Given the description of an element on the screen output the (x, y) to click on. 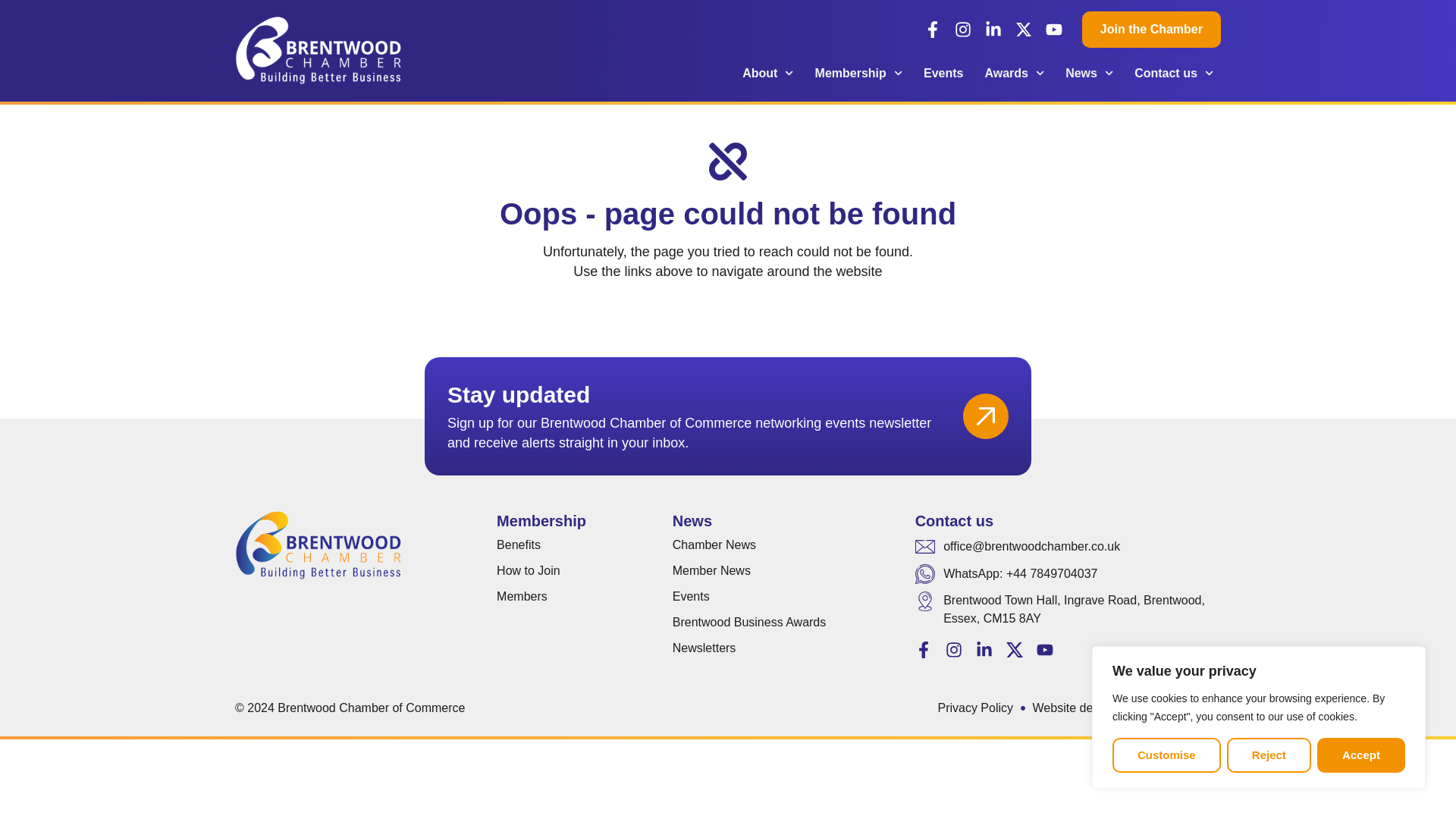
Join the Chamber (1151, 29)
Awards (1013, 73)
Events (943, 73)
Membership (859, 73)
About (767, 73)
